Given the description of an element on the screen output the (x, y) to click on. 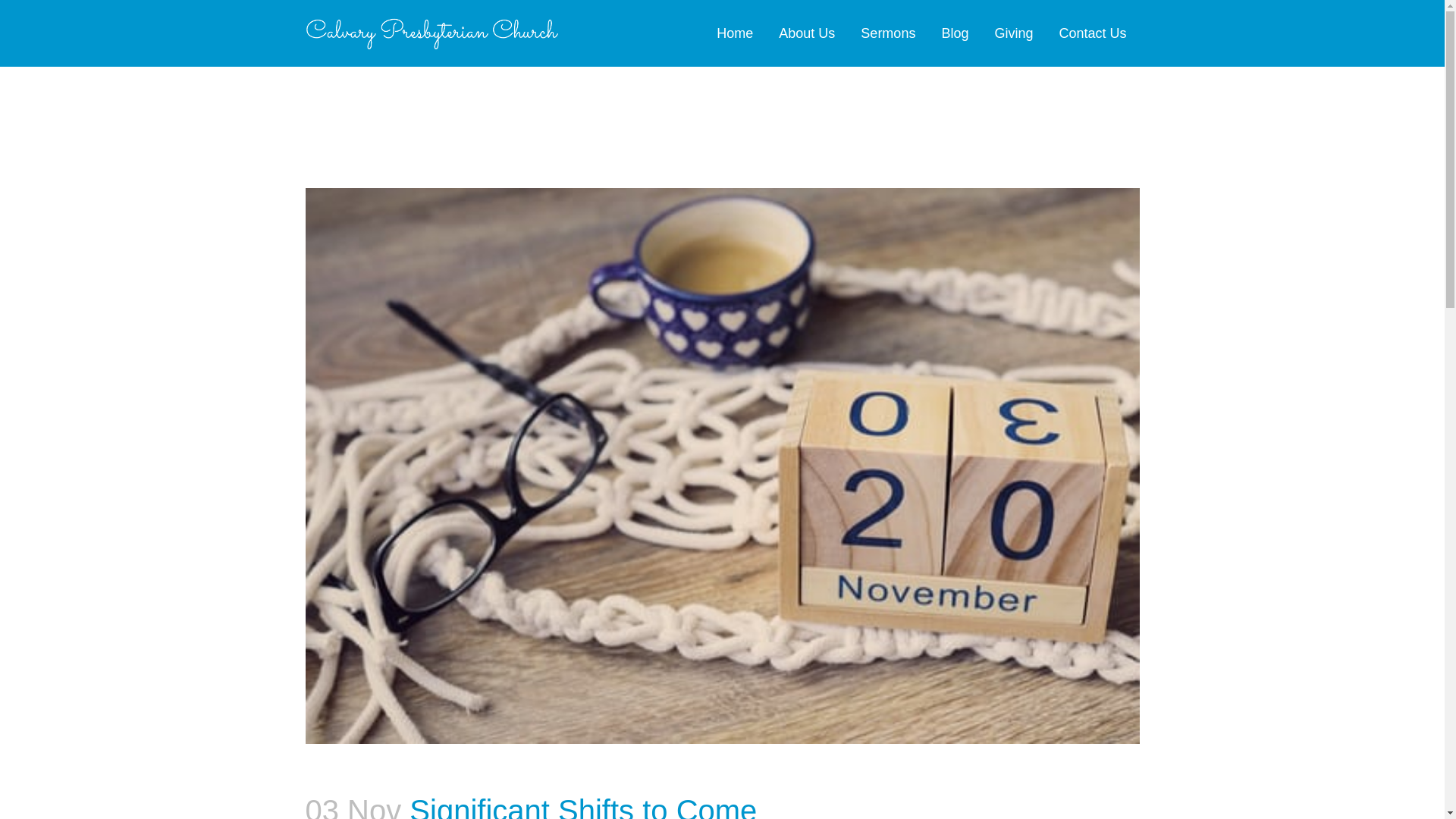
Home (734, 33)
Giving (1013, 33)
About Us (806, 33)
Contact Us (1091, 33)
Sermons (887, 33)
